Given the description of an element on the screen output the (x, y) to click on. 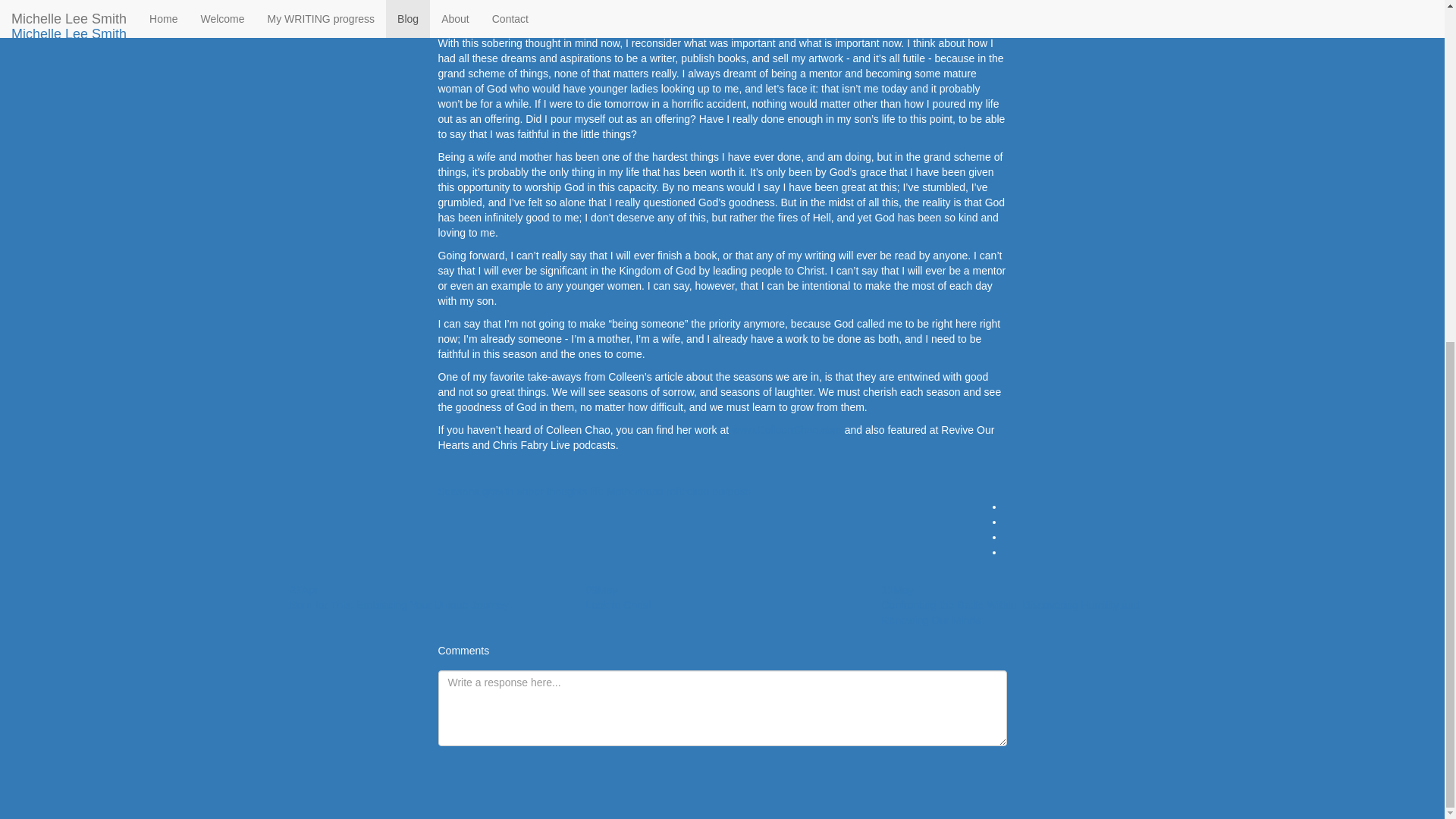
www.ColleenChao.com (786, 429)
27Apr (303, 589)
Motherhood (635, 491)
purpose (731, 491)
09May (601, 589)
11May (896, 589)
growth (497, 491)
life (596, 491)
Seasons (458, 491)
Look to Christ (617, 604)
